Given the description of an element on the screen output the (x, y) to click on. 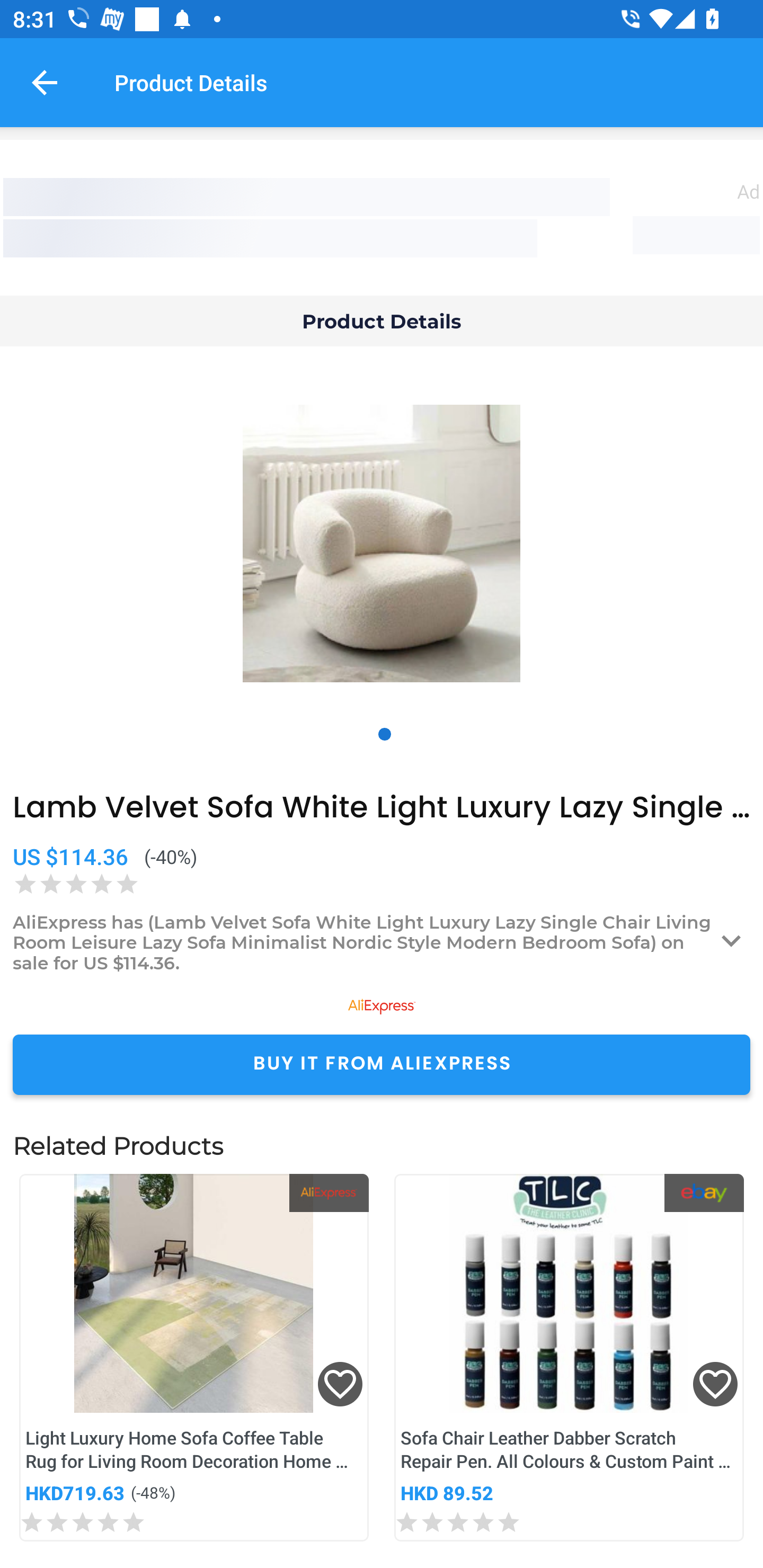
Navigate up (44, 82)
BUY IT FROM ALIEXPRESS (381, 1064)
